Given the description of an element on the screen output the (x, y) to click on. 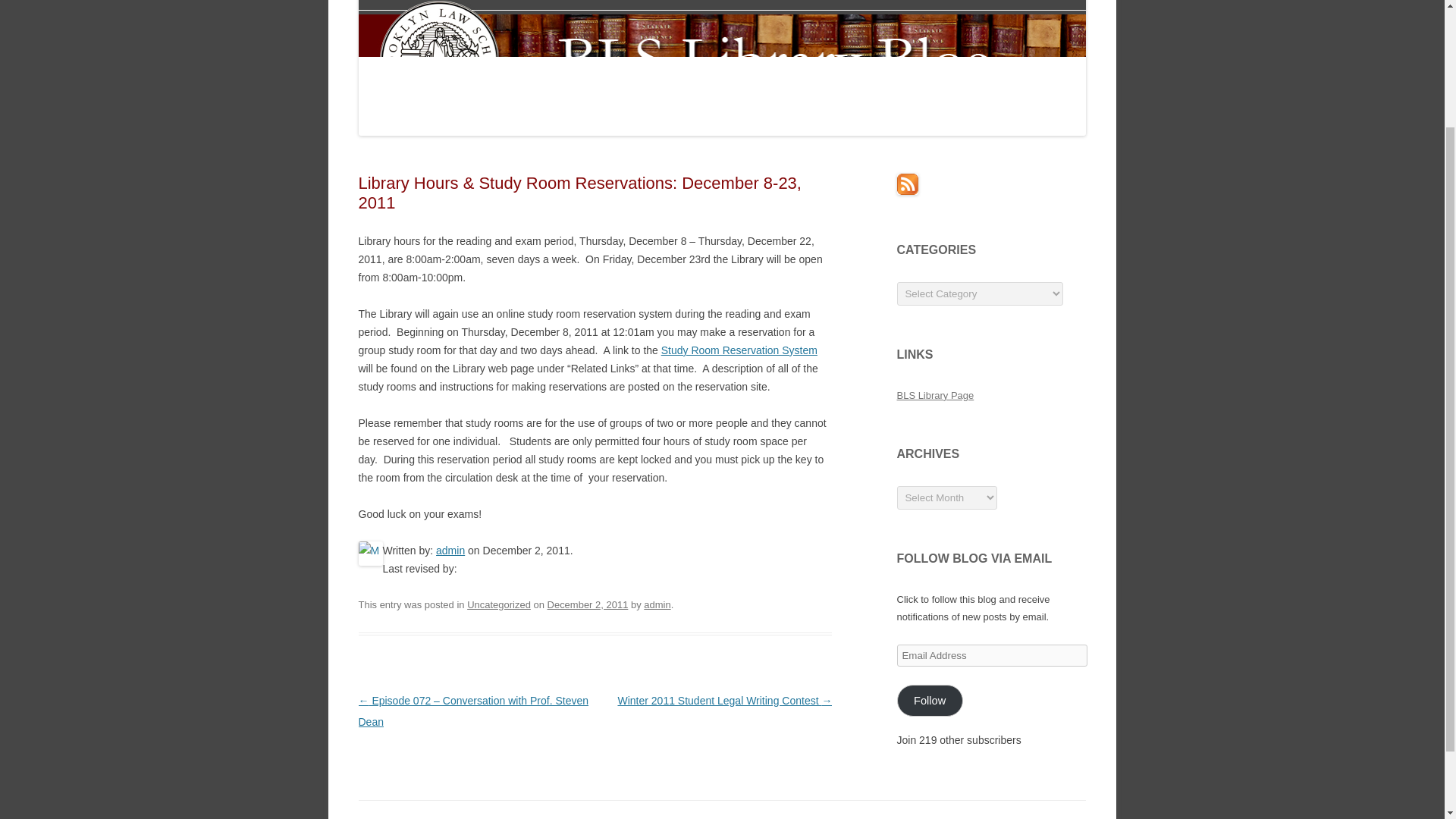
View all posts by admin (656, 604)
Follow (929, 700)
More about admin  (449, 550)
Uncategorized (499, 604)
December 2, 2011 (587, 604)
6:55 pm (587, 604)
BLS Library Page (935, 395)
admin (449, 550)
Subscribe to posts (906, 191)
Study Room Reservation System (738, 349)
admin (656, 604)
